Given the description of an element on the screen output the (x, y) to click on. 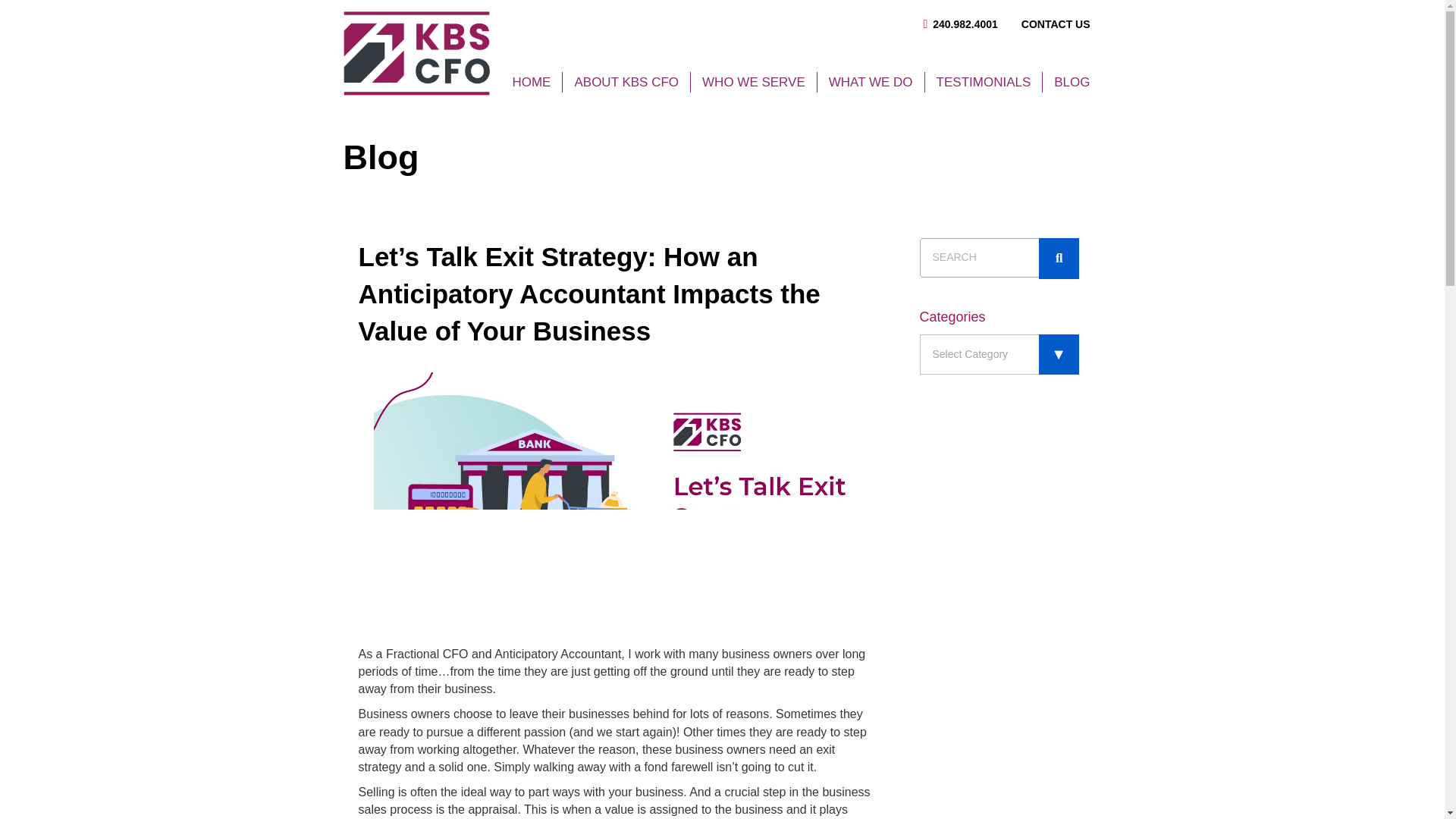
BLOG (1071, 82)
Type and press Enter to search. (998, 257)
TESTIMONIALS (983, 82)
HOME (531, 82)
KBS CFO Logo (415, 53)
WHO WE SERVE (753, 82)
ABOUT KBS CFO (626, 82)
SEARCH (998, 257)
GO (1058, 258)
WHAT WE DO (870, 82)
